Given the description of an element on the screen output the (x, y) to click on. 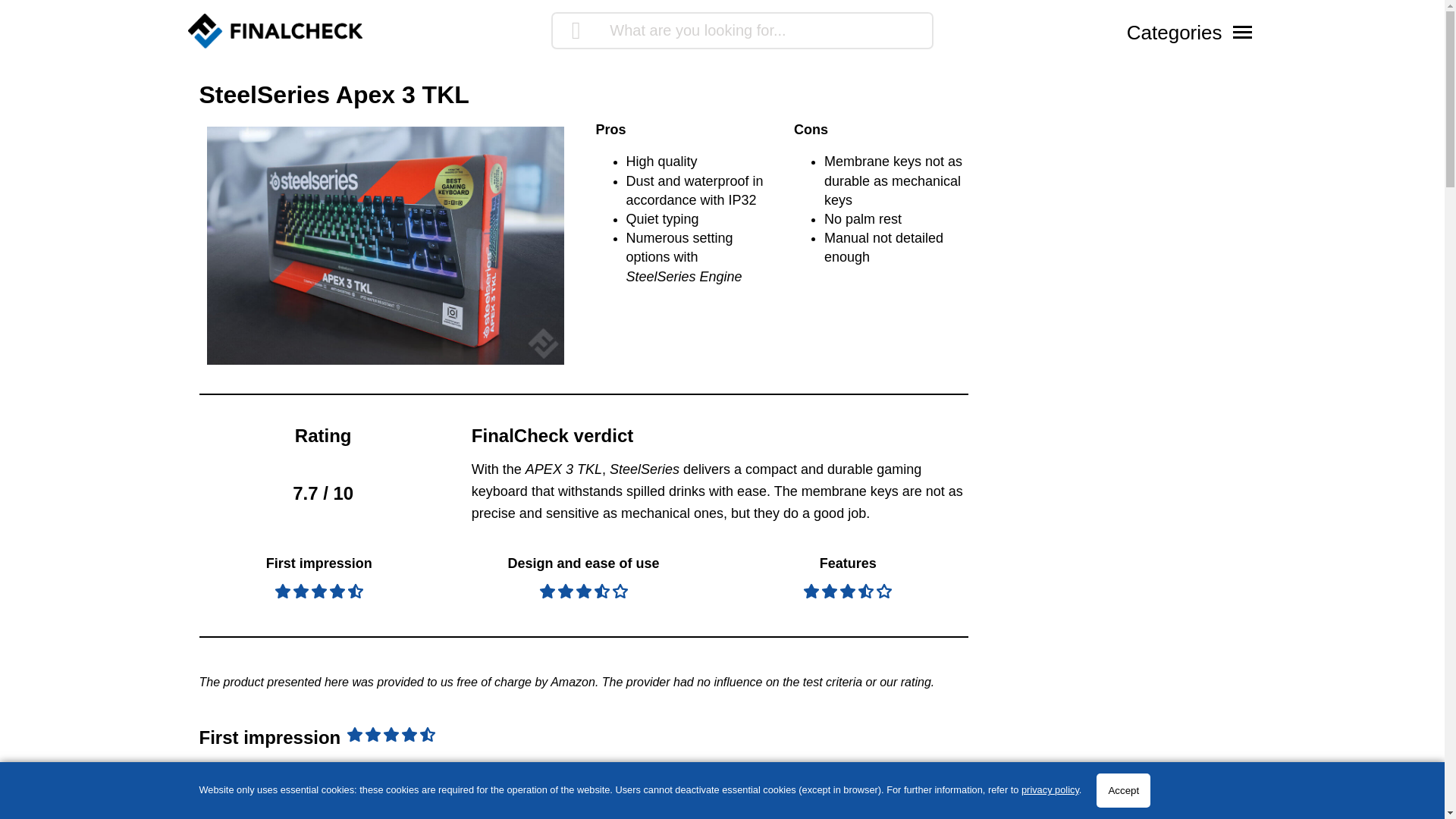
Accept (1123, 790)
privacy policy (1050, 789)
Categories (1189, 31)
